Given the description of an element on the screen output the (x, y) to click on. 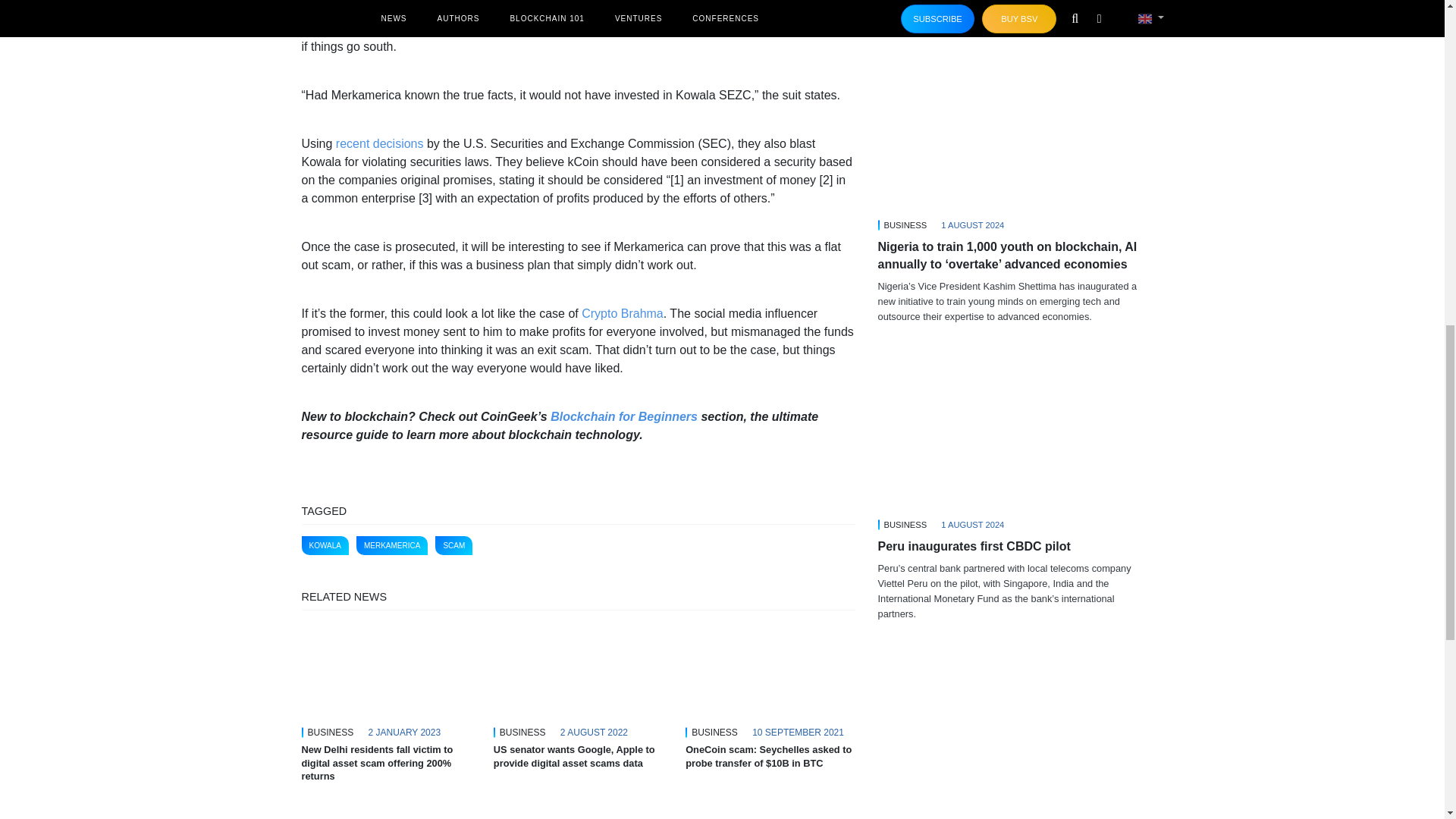
Peru inaugurates first CBDC pilot (1009, 439)
